Given the description of an element on the screen output the (x, y) to click on. 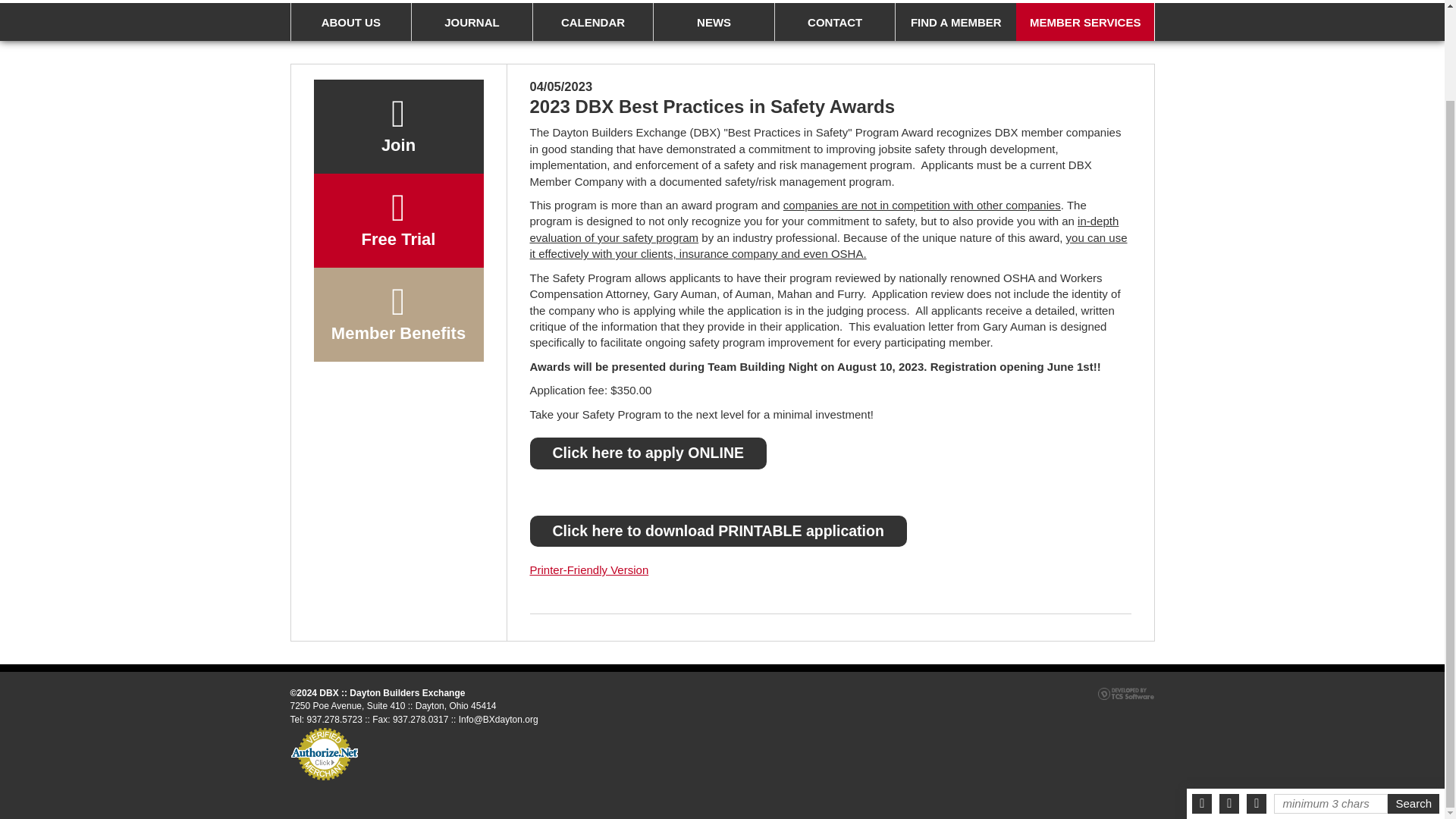
Search (1413, 700)
NEWS (713, 21)
Search (1413, 700)
Printer-Friendly Version (588, 569)
MEMBER SERVICES (1085, 21)
JOURNAL (471, 21)
CONTACT (834, 21)
FIND A MEMBER (955, 21)
Click here to apply ONLINE (647, 452)
CALENDAR (592, 21)
Search (1413, 700)
Click here to download PRINTABLE application (717, 531)
ABOUT US (349, 21)
